Given the description of an element on the screen output the (x, y) to click on. 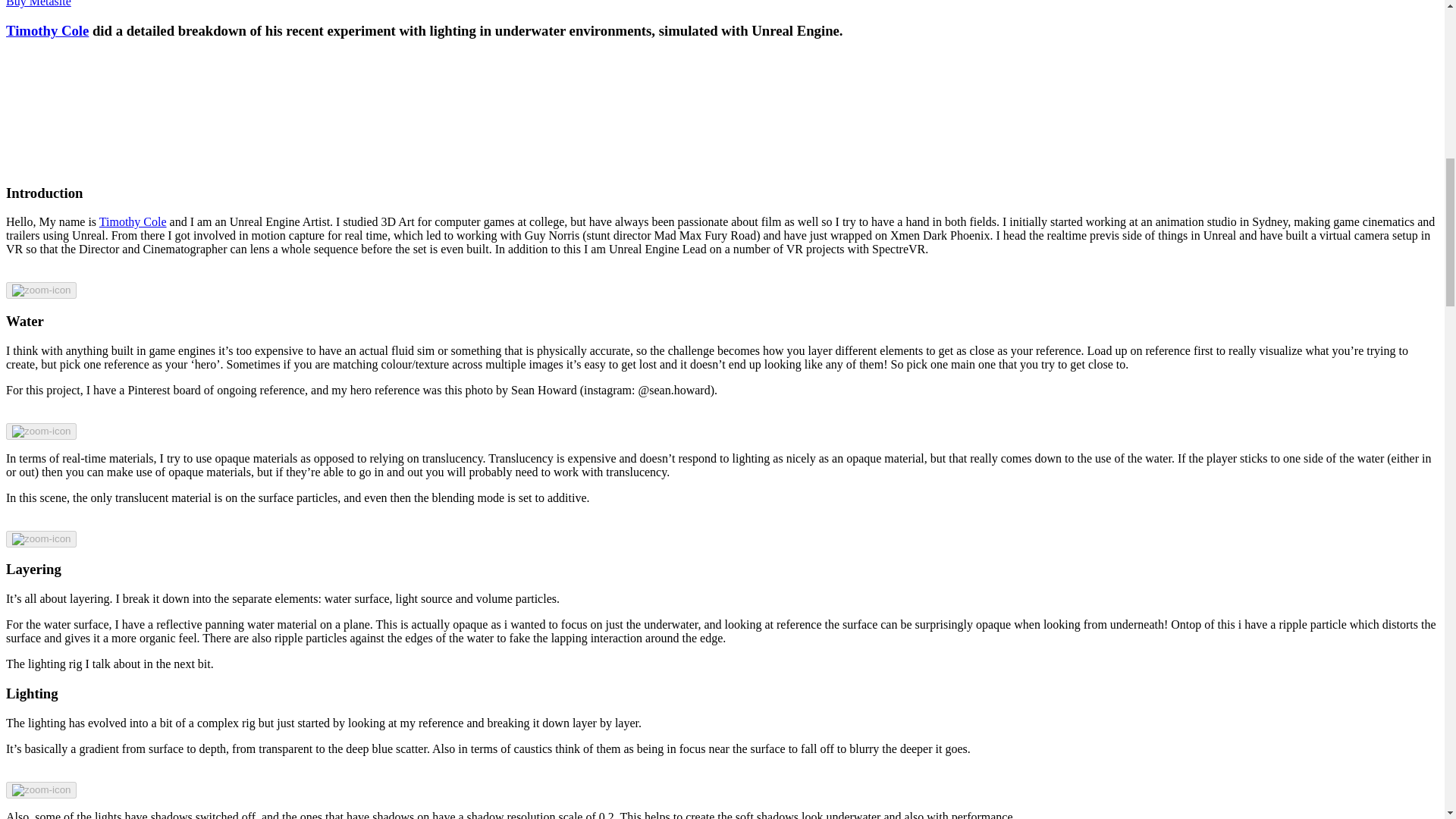
Timothy Cole (133, 221)
Timothy Cole (46, 30)
Buy Metasite (38, 3)
